Given the description of an element on the screen output the (x, y) to click on. 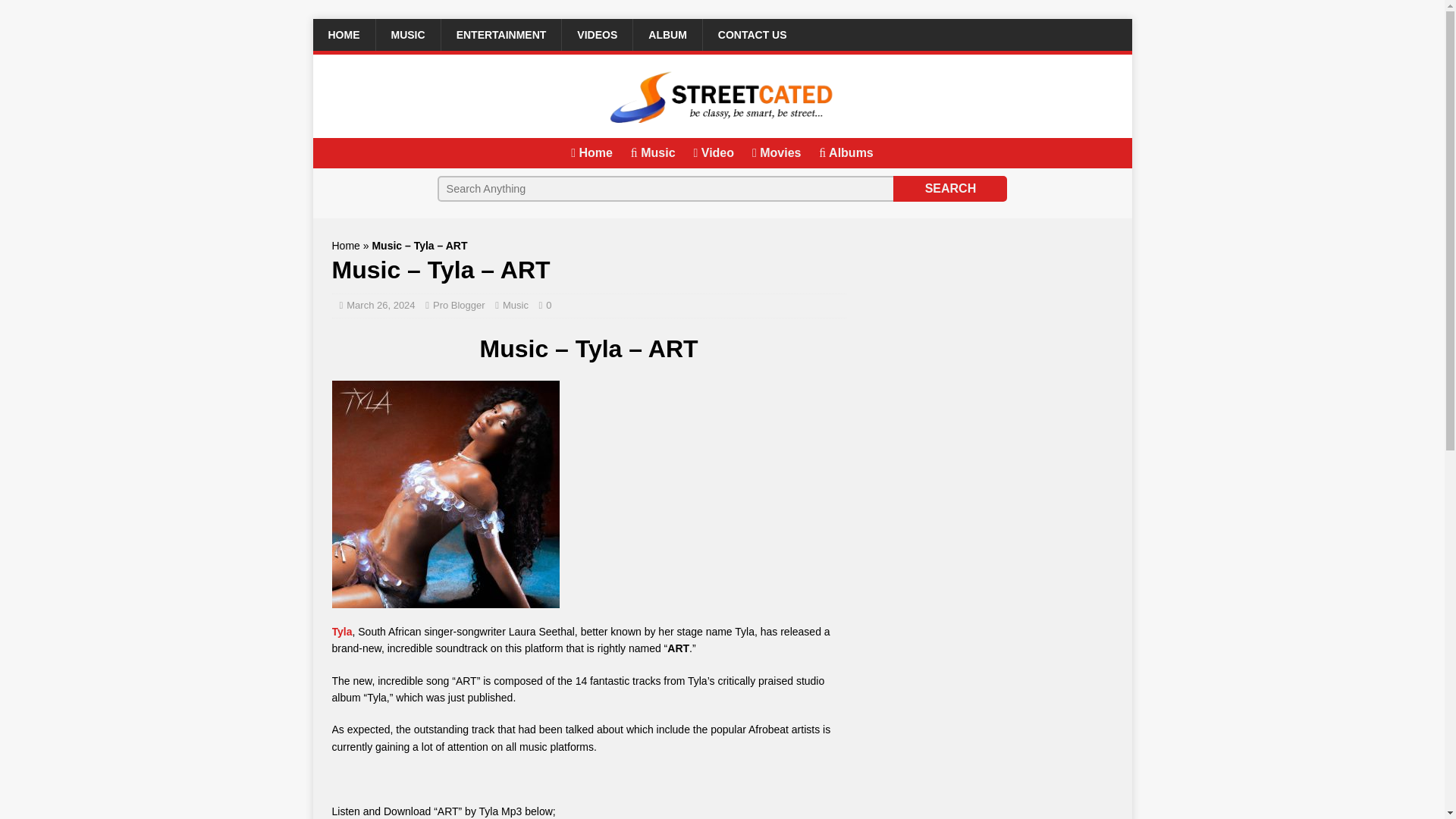
ALBUM (666, 34)
HOME (343, 34)
Search (950, 188)
ENTERTAINMENT (501, 34)
Home (345, 245)
March 26, 2024 (380, 305)
Music (515, 305)
 Music (652, 152)
Pro Blogger (458, 305)
 Video (713, 152)
